Given the description of an element on the screen output the (x, y) to click on. 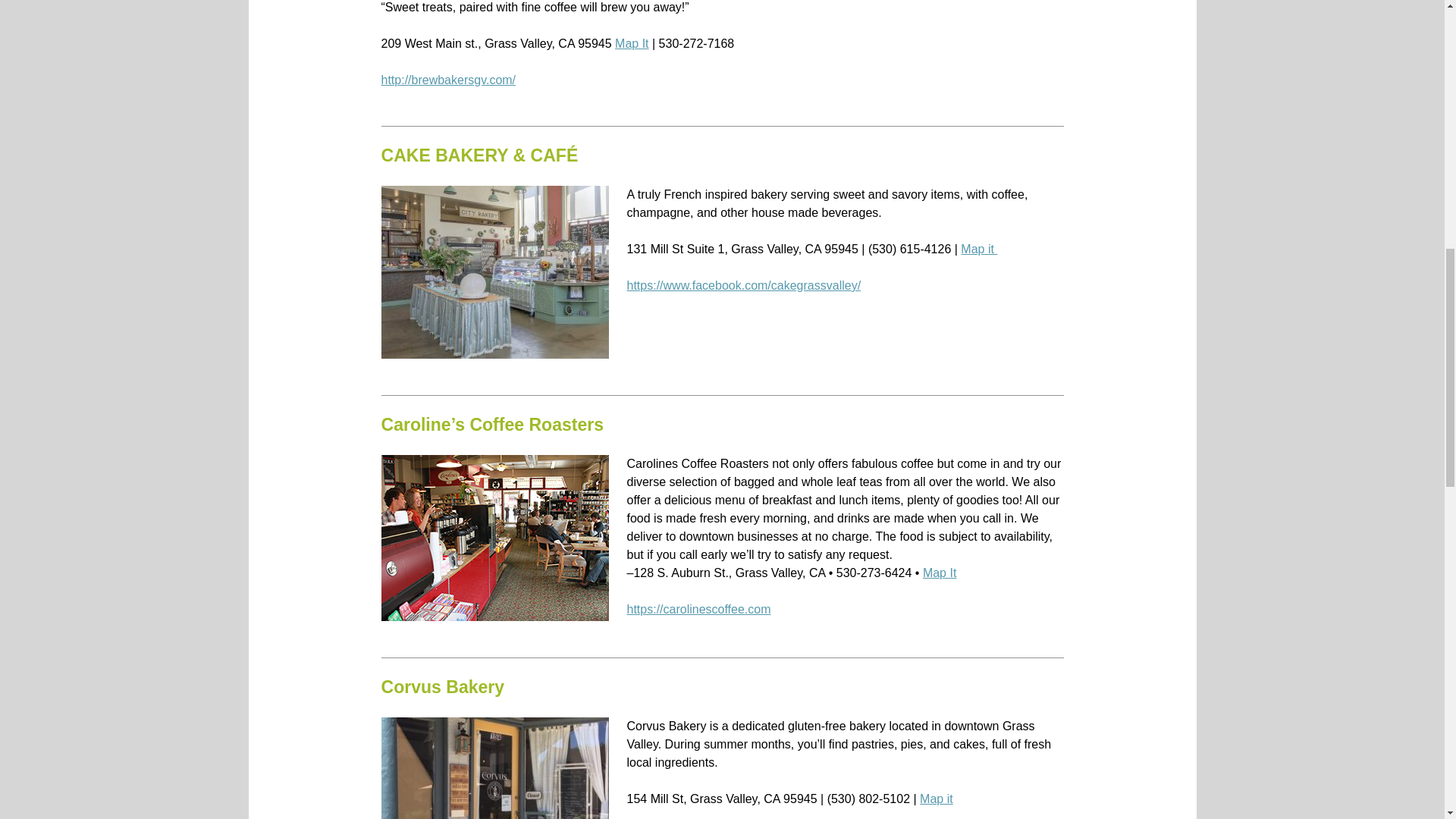
Map It (630, 42)
Map It (939, 572)
Map it  (978, 248)
Map it (936, 798)
Corvus Bakery (441, 686)
